Given the description of an element on the screen output the (x, y) to click on. 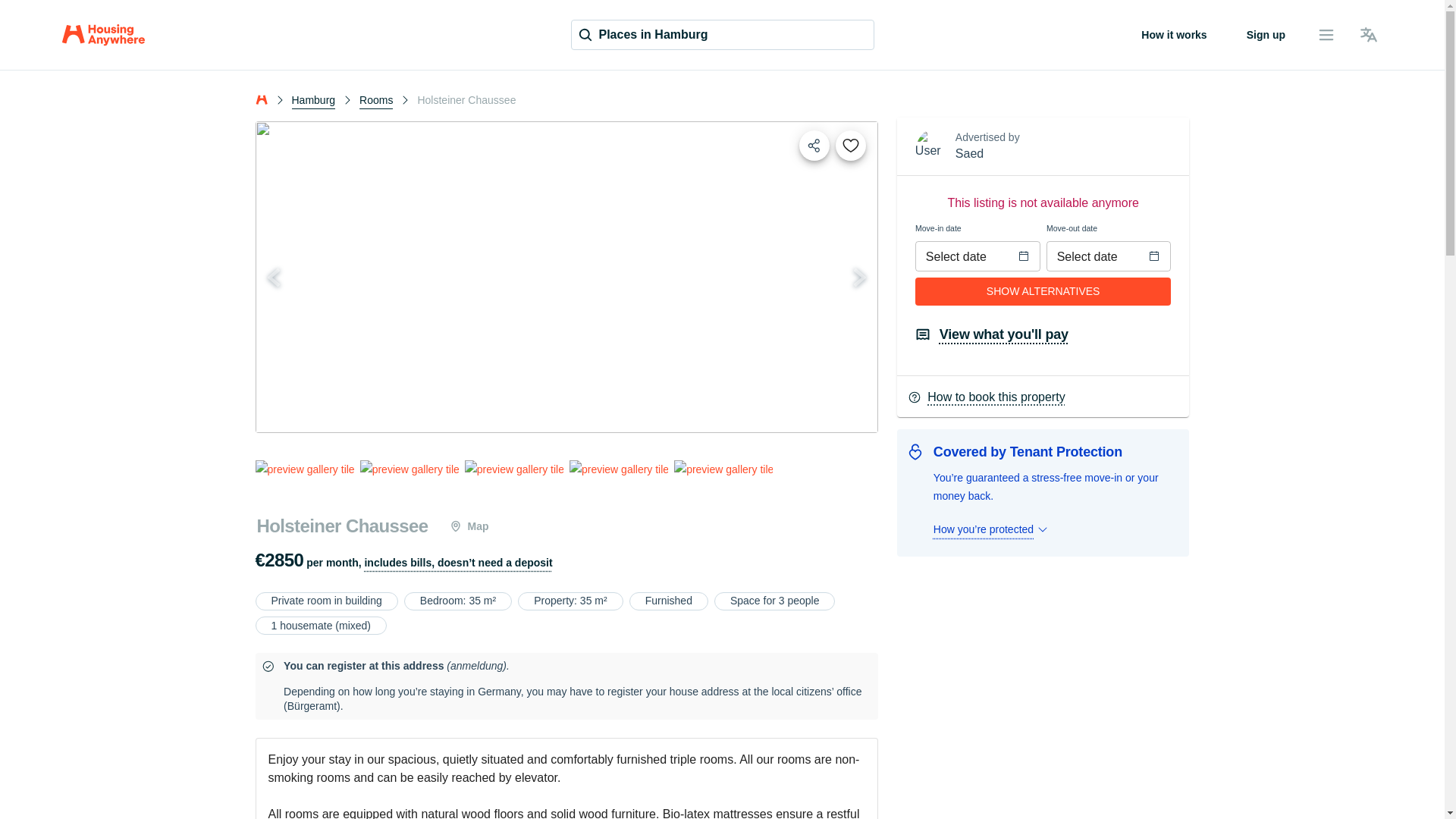
How it works (1173, 34)
Select date (1094, 255)
Select date (963, 255)
Rooms (376, 99)
Hamburg (312, 99)
Profile preview (969, 153)
Favourite (850, 145)
Saed (969, 153)
View what you'll pay (991, 333)
Holsteiner Chaussee (341, 525)
Map (469, 526)
SHOW ALTERNATIVES (1043, 290)
Share (814, 145)
Places in Hamburg (721, 34)
SHOW ALTERNATIVES (1043, 291)
